Given the description of an element on the screen output the (x, y) to click on. 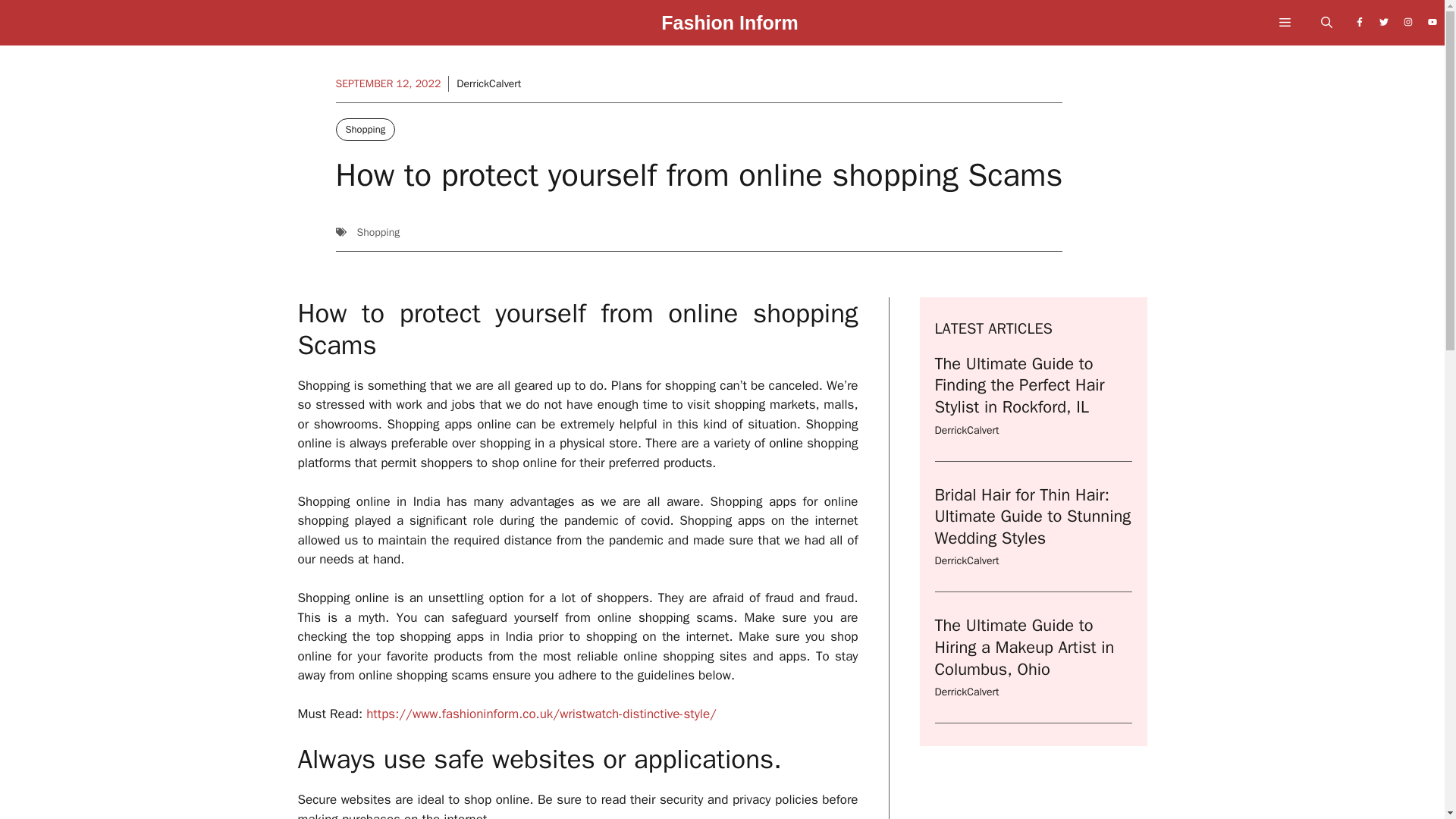
DerrickCalvert (489, 83)
DerrickCalvert (966, 430)
Shopping (377, 232)
DerrickCalvert (966, 691)
DerrickCalvert (966, 560)
Shopping (364, 128)
Fashion Inform (729, 26)
